Given the description of an element on the screen output the (x, y) to click on. 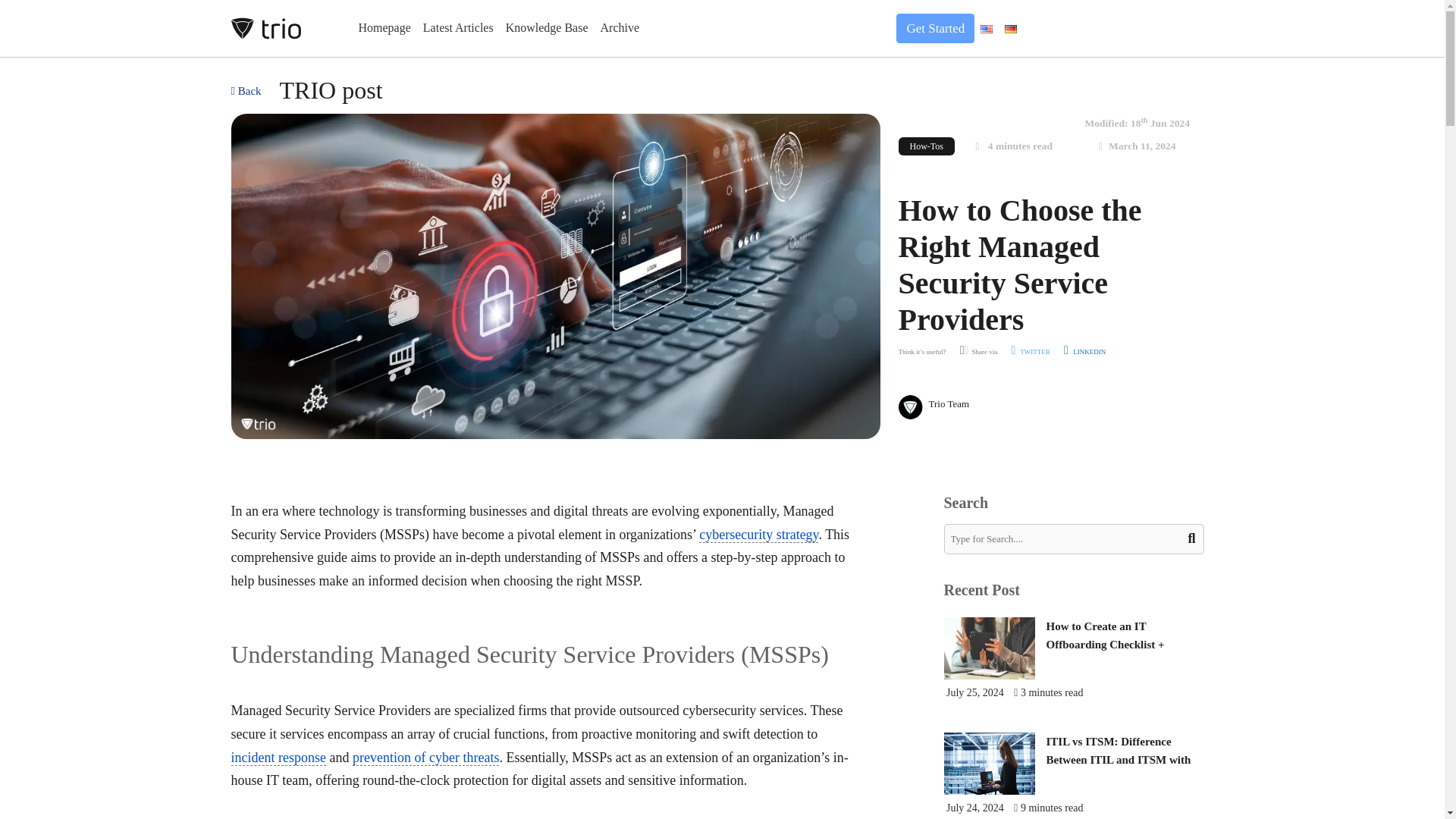
LINKEDIN (1084, 351)
TWITTER (1029, 351)
Back (245, 88)
cybersecurity strategy (758, 534)
Get Started (935, 28)
Latest Articles (457, 28)
prevention of cyber threats (425, 757)
ITIL vs ITSM: Difference Between ITIL and ITSM with Examples (1118, 759)
Knowledge Base (546, 28)
incident response (277, 757)
Homepage (384, 28)
Archive (620, 28)
Get Started (928, 28)
